Given the description of an element on the screen output the (x, y) to click on. 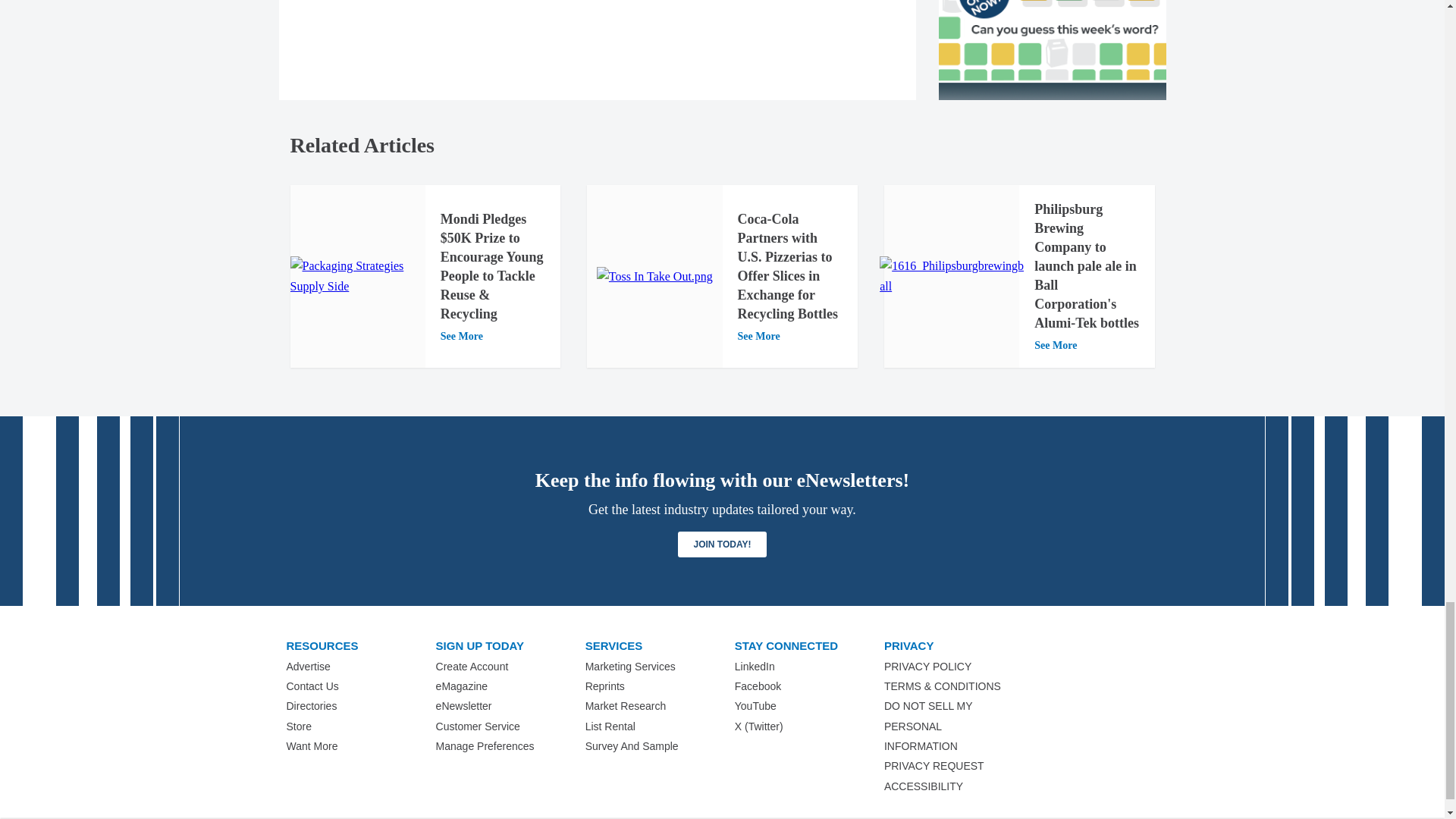
Toss In Take Out.png (654, 276)
Supply Side (357, 276)
